Given the description of an element on the screen output the (x, y) to click on. 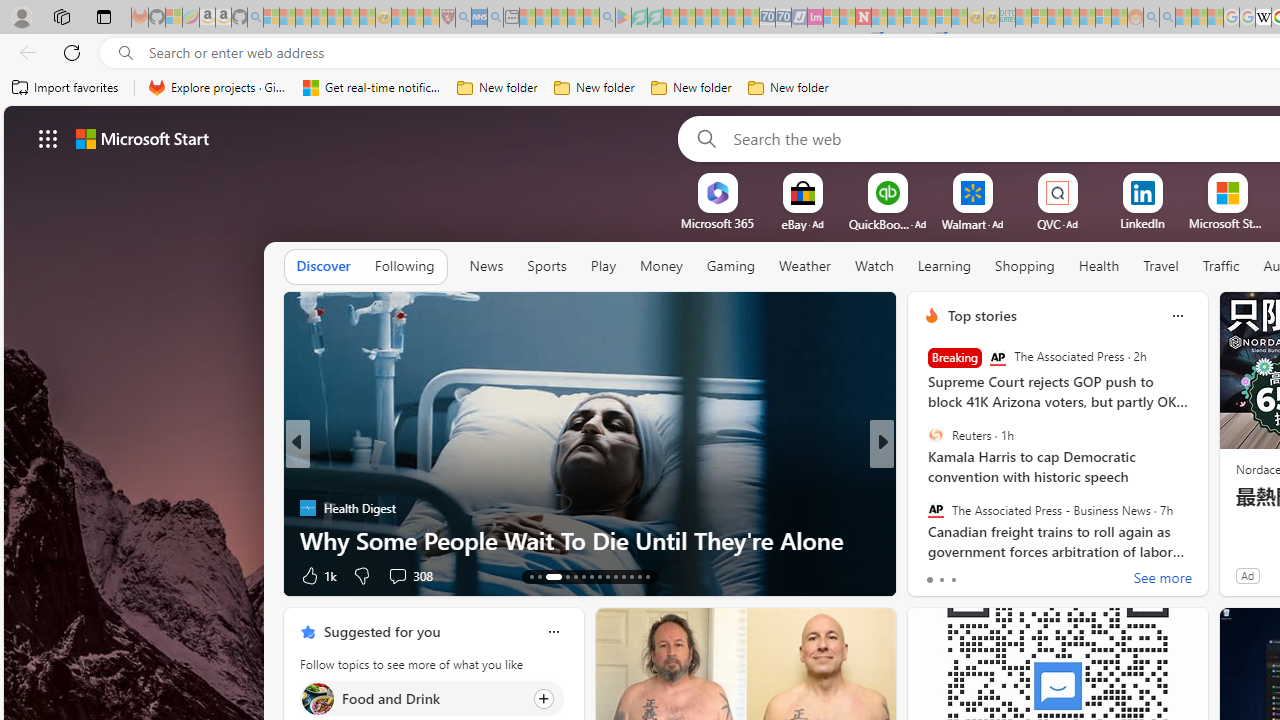
Food and Drink (317, 697)
AutomationID: tab-19 (591, 576)
45 Like (934, 574)
659 Like (936, 574)
AutomationID: tab-14 (539, 576)
View comments 13 Comment (1019, 575)
